Given the description of an element on the screen output the (x, y) to click on. 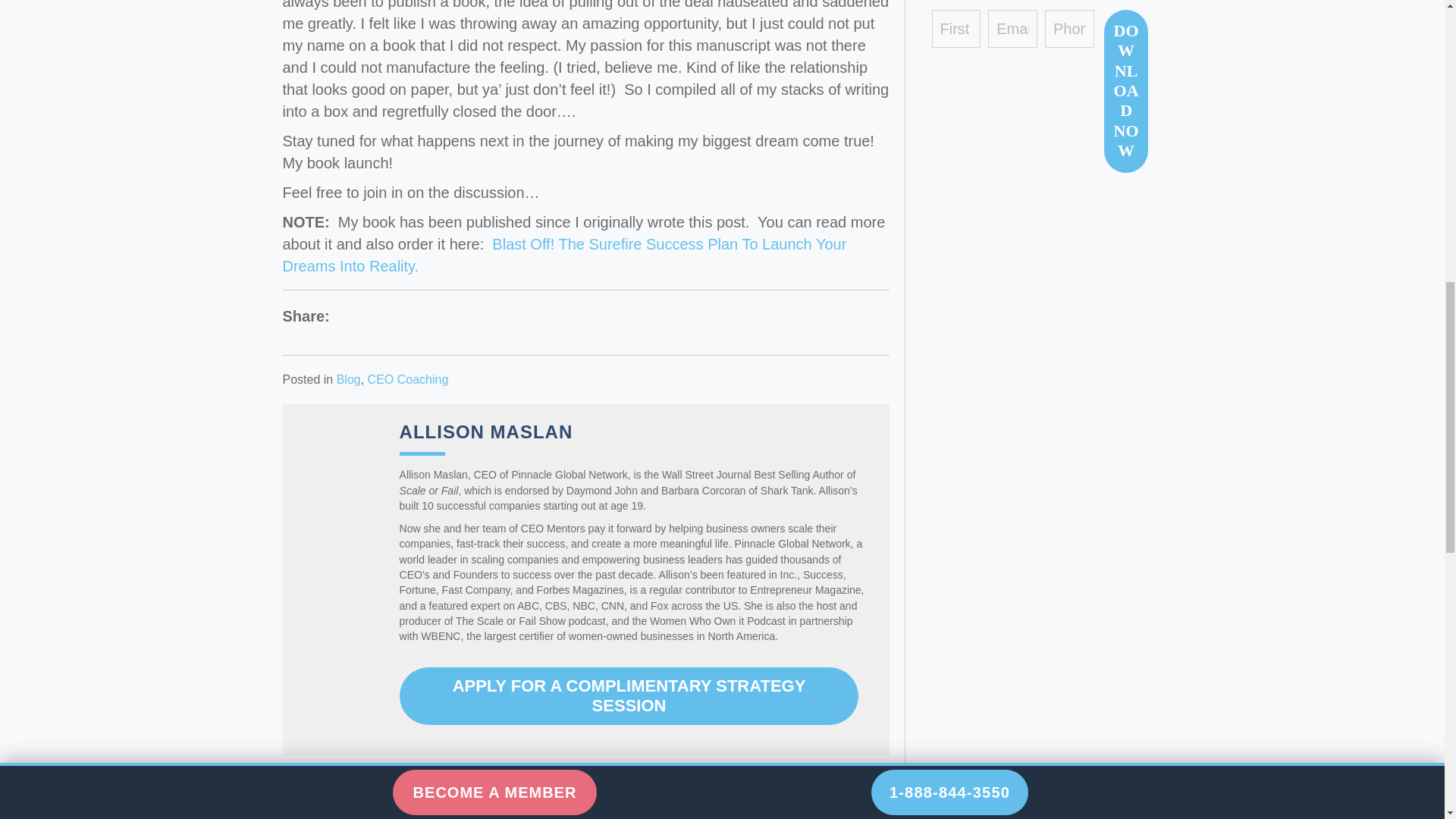
CEO Coaching (408, 379)
APPLY FOR A COMPLIMENTARY STRATEGY SESSION (628, 696)
Blog (348, 379)
